Given the description of an element on the screen output the (x, y) to click on. 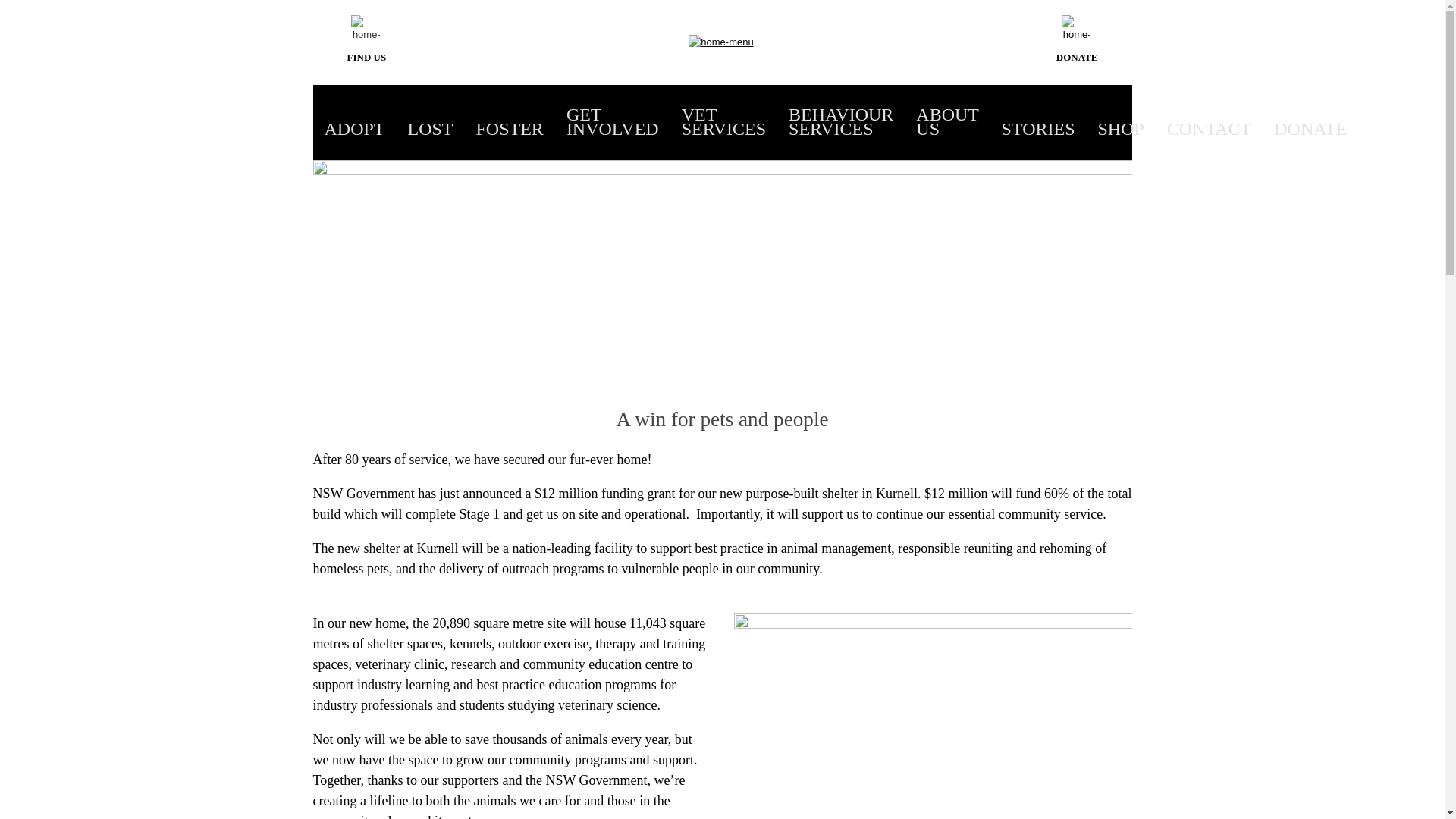
ADOPT (354, 129)
DONATE (1310, 129)
GET INVOLVED (612, 122)
BEHAVIOUR SERVICES (841, 122)
LOST (429, 129)
ABOUT US (946, 122)
STORIES (1038, 129)
Front view (932, 716)
VET SERVICES (723, 122)
CONTACT (1208, 129)
SHOP (1119, 129)
FOSTER (509, 129)
